Given the description of an element on the screen output the (x, y) to click on. 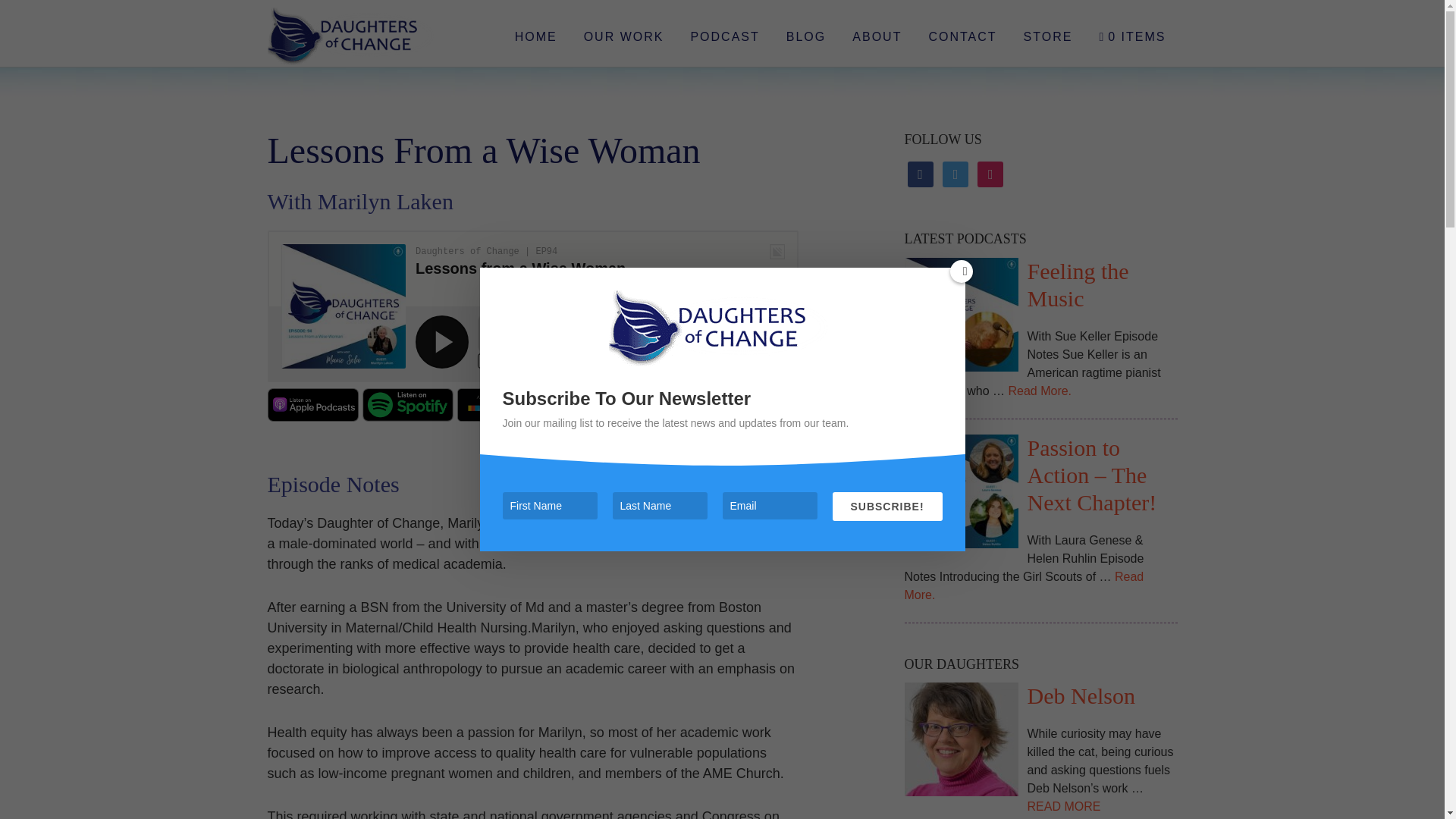
Feeling the Music (1077, 284)
Feeling the Music (1077, 284)
Deb Nelson (960, 741)
STORE (1047, 37)
Feeling the Music (960, 316)
twitter (955, 173)
facebook (920, 173)
Start shopping (1131, 36)
Read More. (1023, 585)
OUR WORK (623, 37)
Deb Nelson (1080, 695)
ABOUT (876, 37)
Daughters of Change (384, 36)
Twitter (955, 173)
HOME (536, 37)
